Given the description of an element on the screen output the (x, y) to click on. 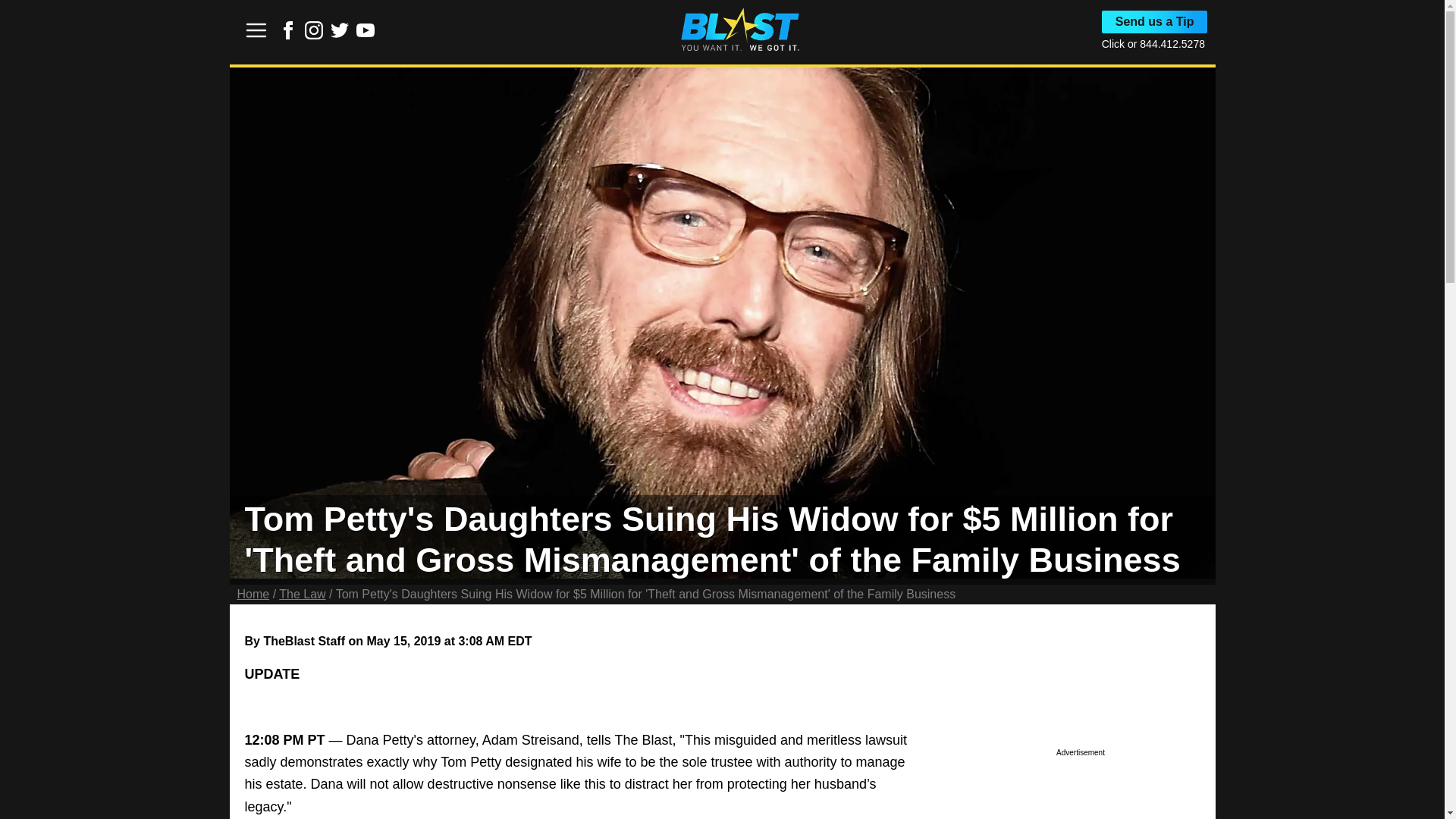
Click or 844.412.5278 (1153, 43)
Link to Facebook (288, 34)
Link to Youtube (365, 34)
Link to Twitter (339, 30)
Send us a Tip (1155, 21)
Link to Youtube (365, 30)
Link to Twitter (339, 34)
3rd party ad content (1079, 789)
Home (252, 594)
3rd party ad content (504, 778)
Link to Facebook (288, 30)
TheBlast Staff (304, 640)
The Law (301, 594)
Link to Instagram (313, 34)
Link to Instagram (313, 30)
